Given the description of an element on the screen output the (x, y) to click on. 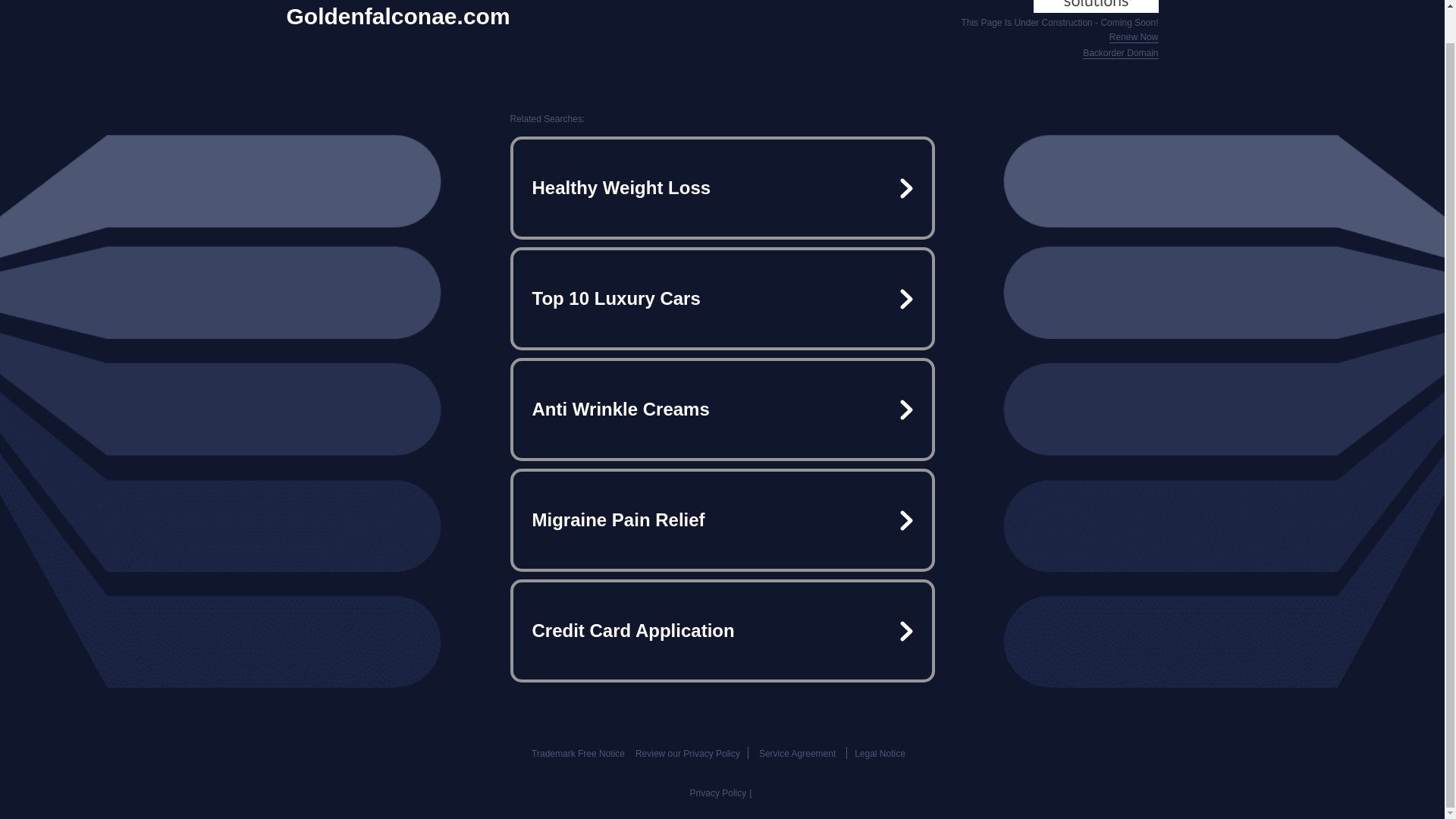
Backorder Domain (1120, 52)
Renew Now (1133, 37)
Top 10 Luxury Cars (721, 298)
Legal Notice (879, 753)
Anti Wrinkle Creams (721, 409)
Review our Privacy Policy (686, 753)
Healthy Weight Loss (721, 187)
Privacy Policy (718, 792)
Migraine Pain Relief (721, 519)
Credit Card Application (721, 630)
Top 10 Luxury Cars (721, 298)
Anti Wrinkle Creams (721, 409)
Credit Card Application (721, 630)
Service Agreement (796, 753)
Goldenfalconae.com (398, 16)
